Given the description of an element on the screen output the (x, y) to click on. 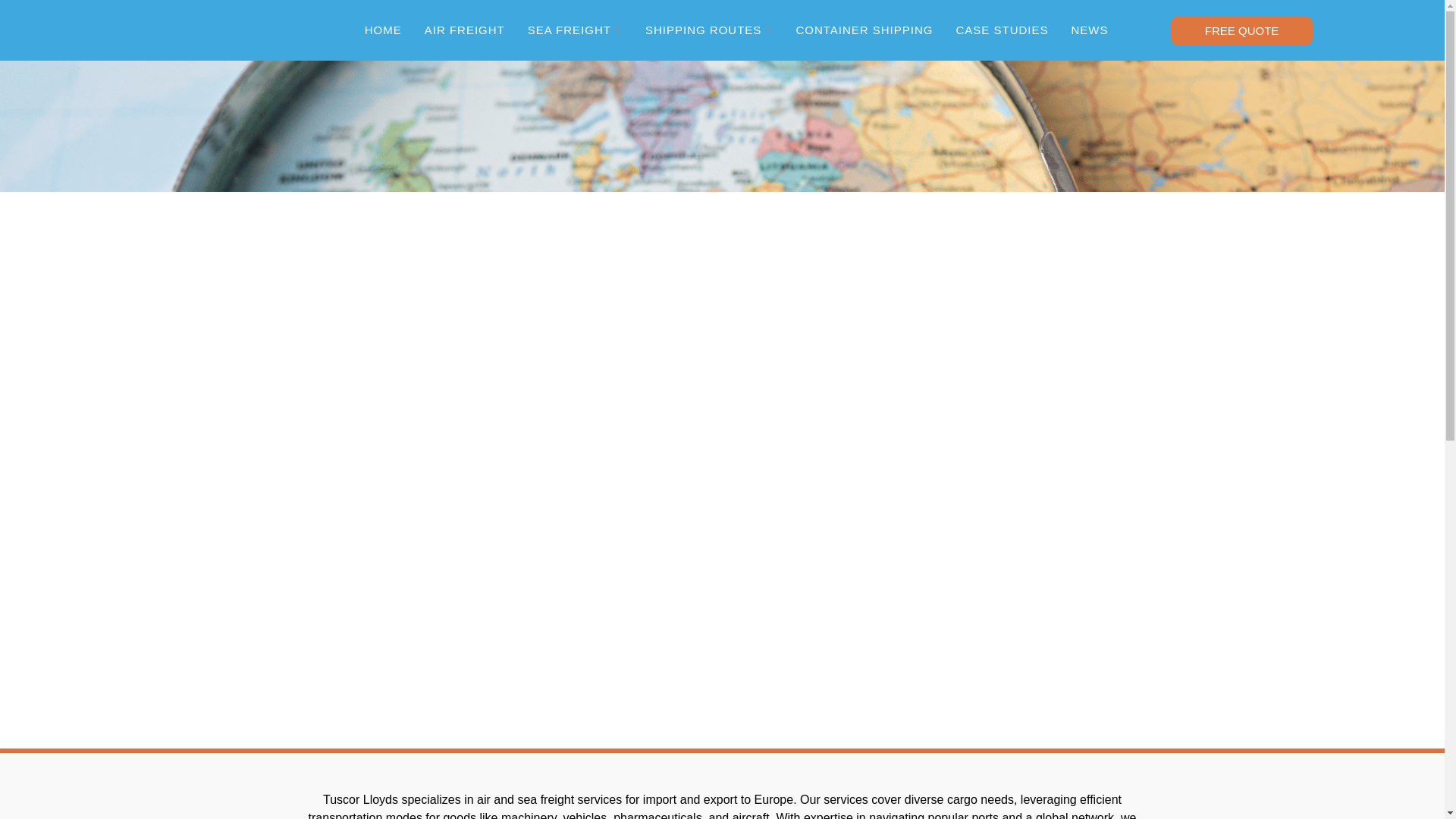
SEA FREIGHT (574, 30)
AIR FREIGHT (464, 30)
HOME (383, 30)
SHIPPING ROUTES (708, 30)
